Given the description of an element on the screen output the (x, y) to click on. 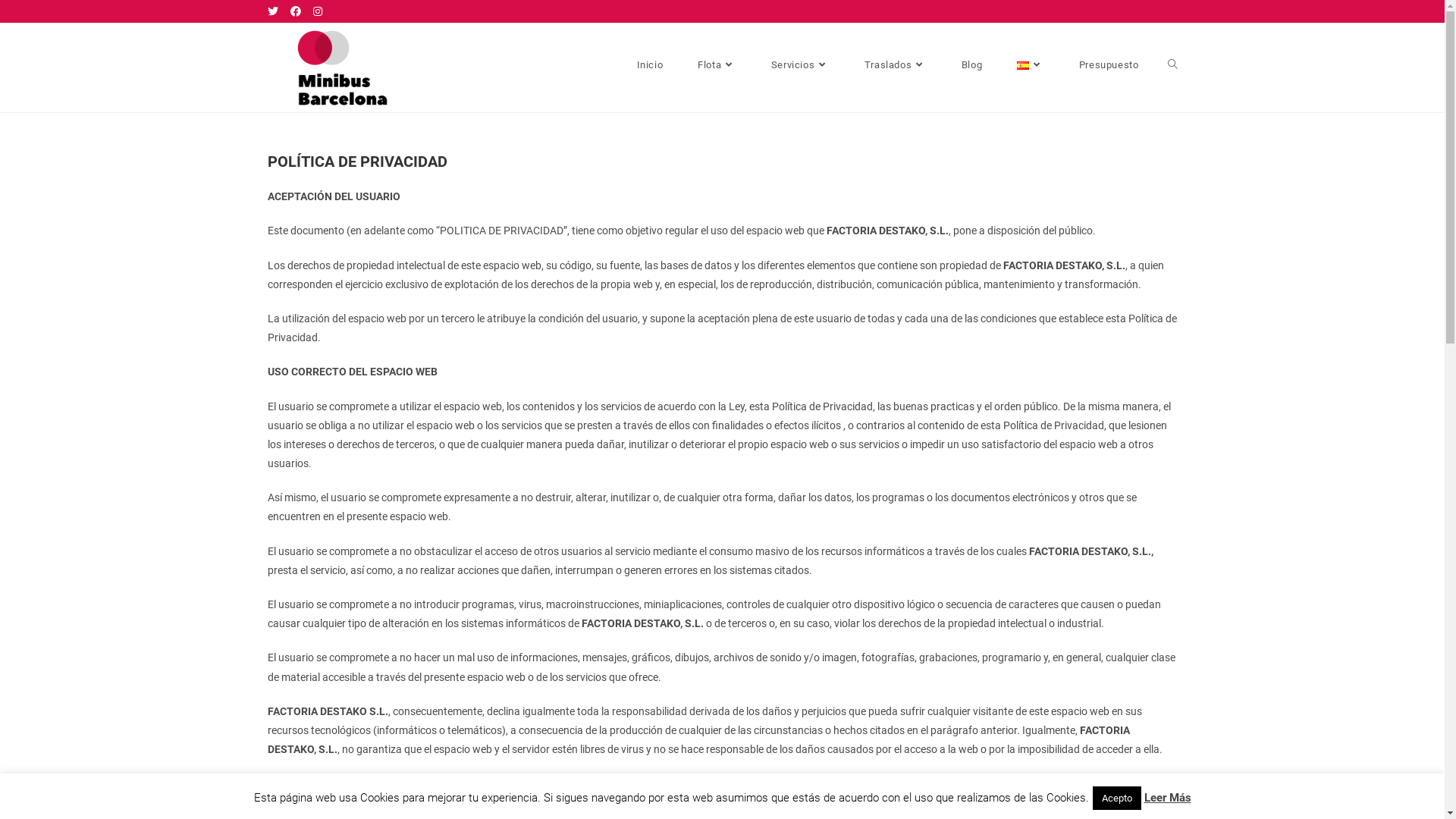
Acepto Element type: text (1116, 797)
Inicio Element type: text (649, 65)
Servicios Element type: text (800, 65)
Flota Element type: text (716, 65)
Traslados Element type: text (895, 65)
Blog Element type: text (971, 65)
Presupuesto Element type: text (1108, 65)
